Given the description of an element on the screen output the (x, y) to click on. 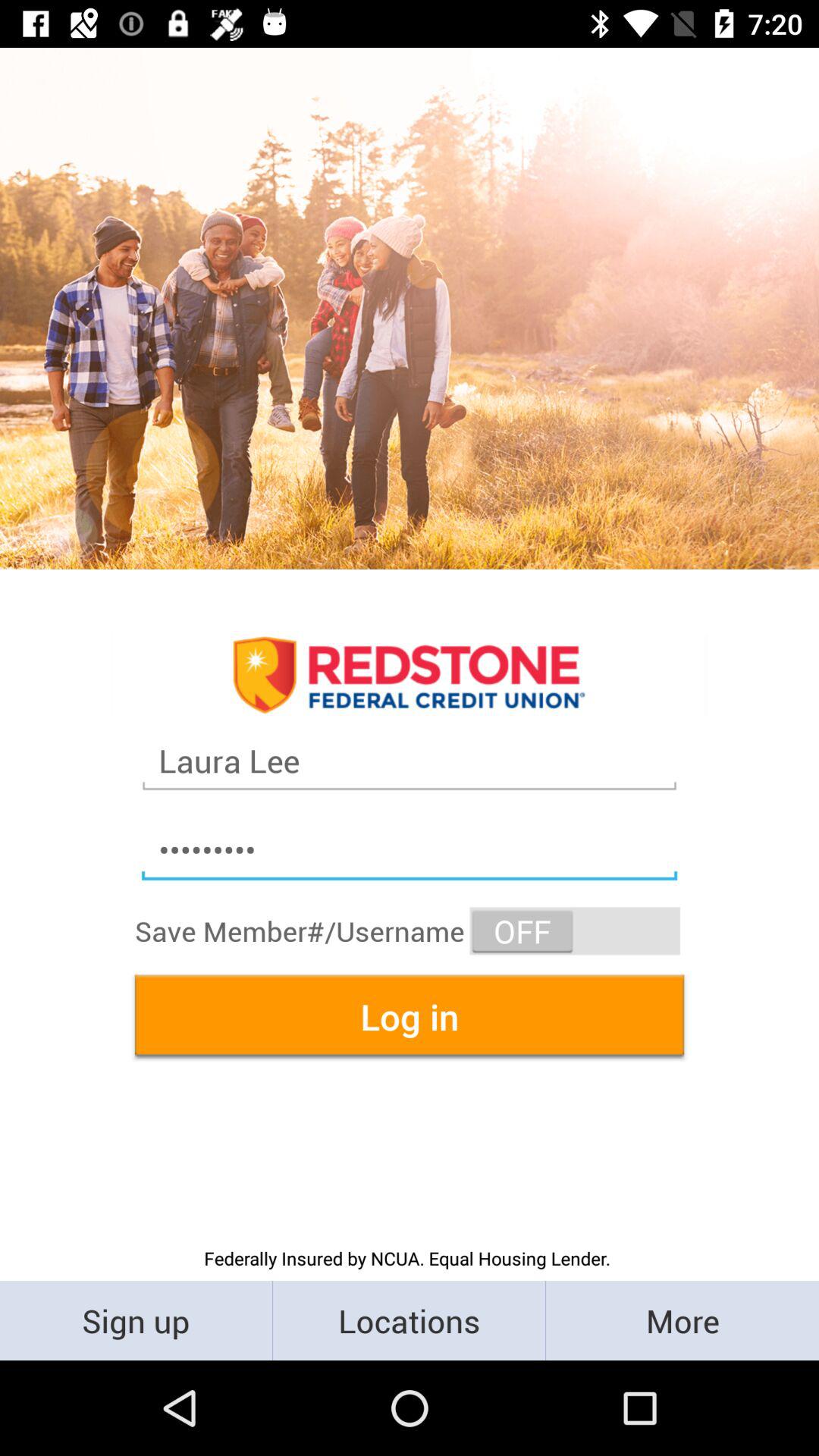
select the item to the right of the save member#/username (574, 930)
